Given the description of an element on the screen output the (x, y) to click on. 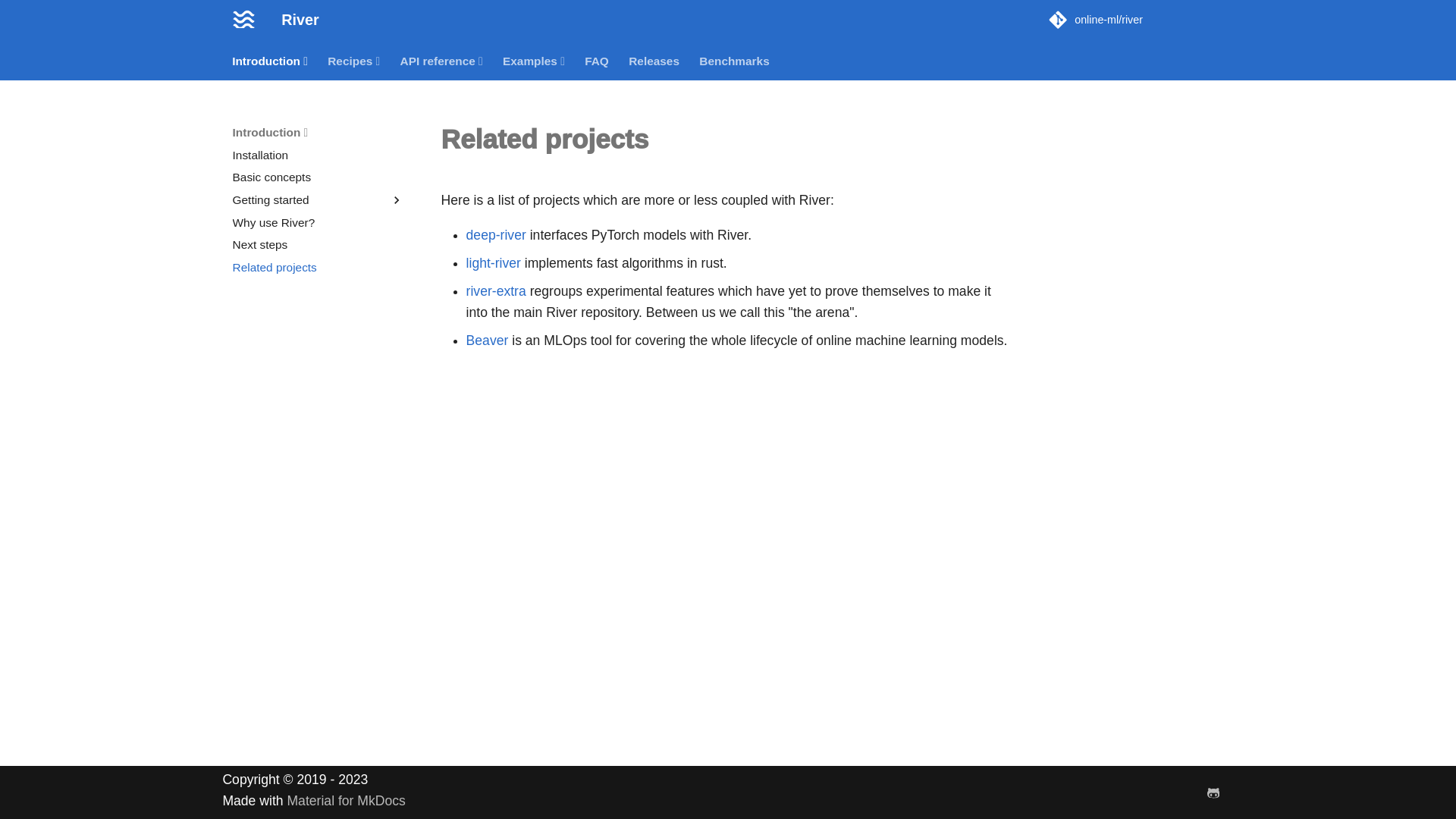
Material for MkDocs (345, 800)
FAQ (597, 60)
river-extra (495, 290)
deep-river (495, 234)
Next steps (318, 244)
light-river (493, 263)
Installation (318, 155)
Beaver (486, 340)
Related projects (318, 267)
Benchmarks (735, 60)
